Given the description of an element on the screen output the (x, y) to click on. 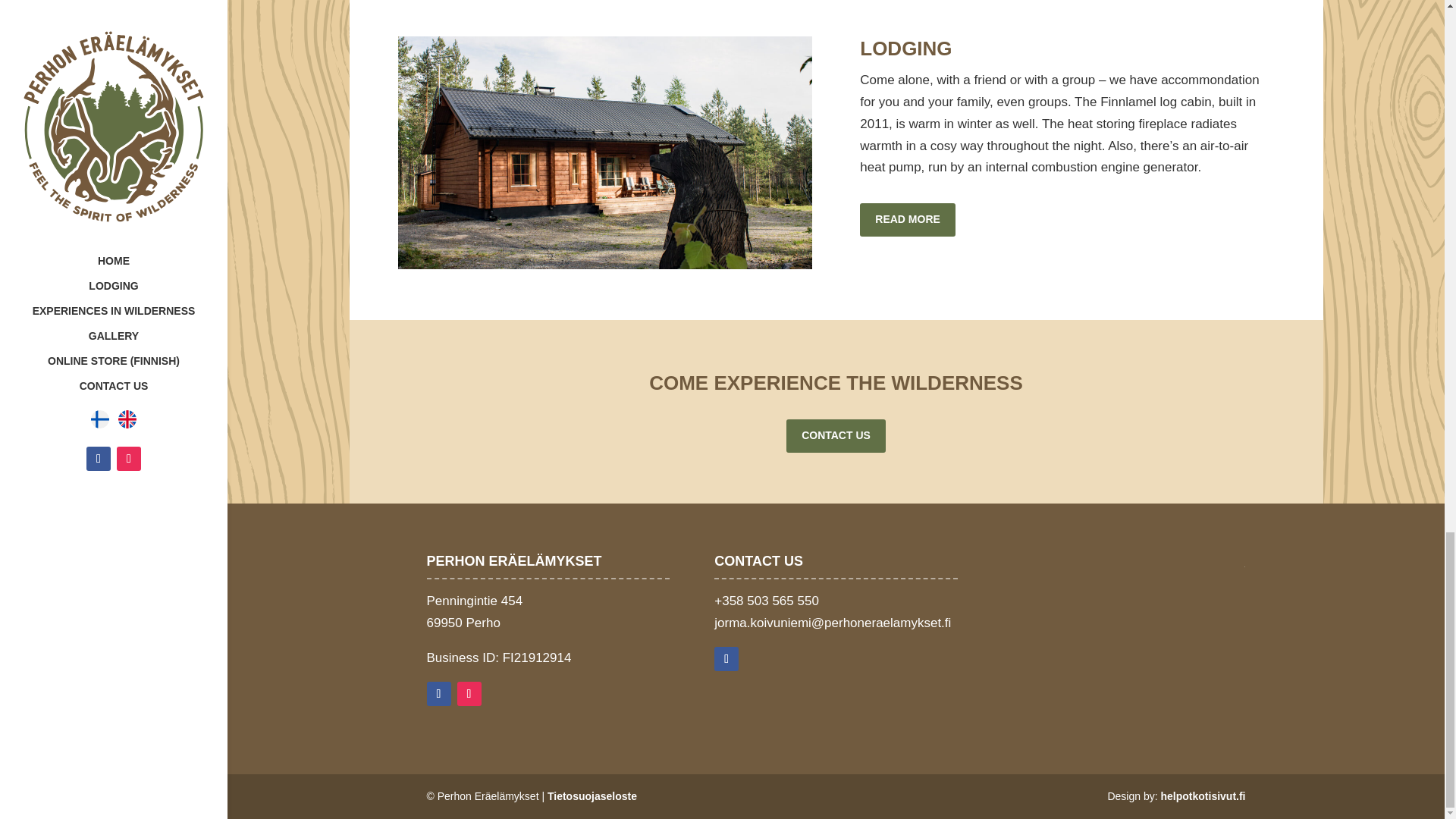
Follow on Facebook (437, 693)
Tietosuojaseloste (592, 796)
helpotkotisivut.fi (1202, 796)
READ MORE (907, 219)
Follow on Instagram (468, 693)
Follow on Facebook (726, 658)
